Given the description of an element on the screen output the (x, y) to click on. 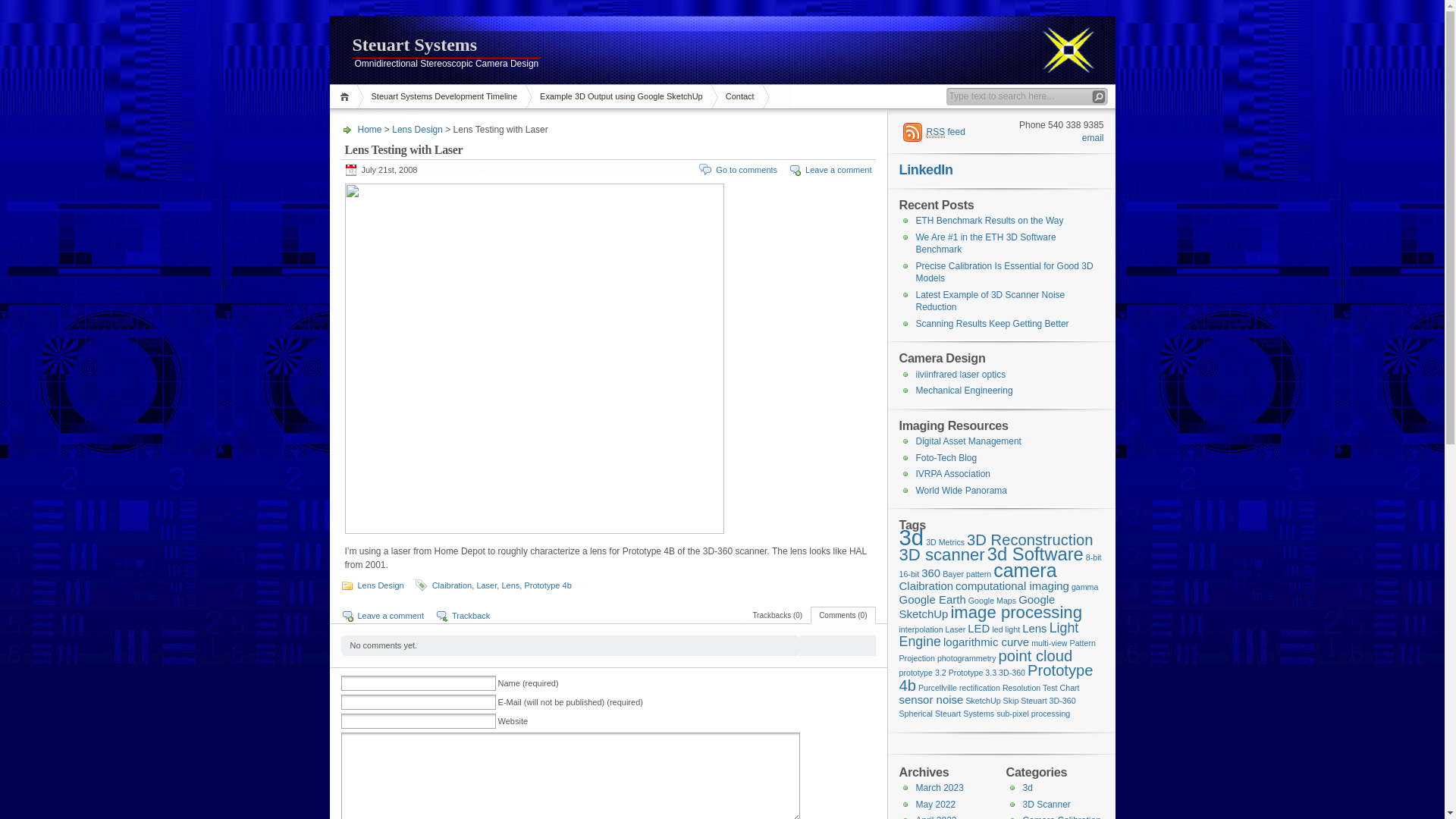
sensor noise Element type: text (931, 699)
Trackbacks (0) Element type: text (776, 615)
Is De Mobiele Versie Van Het Spel Betrouwbaar Element type: text (96, 42)
Leave a comment Element type: text (838, 169)
LED Element type: text (978, 627)
Pattern Projection Element type: text (997, 650)
Legaal Mobiel Blackjack Zonder Stortings Bonus 2023 Element type: text (109, 158)
led light Element type: text (1005, 628)
We Are #1 in the ETH 3D Software Benchmark Element type: text (986, 243)
email Element type: text (1093, 137)
Mechanical Engineering Element type: text (964, 390)
Go to comments Element type: text (746, 169)
camera Element type: text (1024, 569)
Claibration Element type: text (452, 584)
16-bit Element type: text (909, 573)
Trackback Element type: text (470, 615)
logarithmic curve Element type: text (986, 641)
Laser Element type: text (486, 584)
ETH Benchmark Results on the Way Element type: text (989, 220)
interpolation Element type: text (921, 628)
Lens Design Element type: text (380, 584)
May 2022 Element type: text (936, 804)
Hoeveel Mobiel Slots Kaarten 2023 Element type: text (71, 68)
Laser Element type: text (955, 628)
3D scanner Element type: text (942, 554)
Claibration Element type: text (926, 585)
SketchUp Element type: text (982, 700)
Precise Calibration Is Essential for Good 3D Models Element type: text (1004, 272)
3d Element type: text (911, 536)
3D Reconstruction Element type: text (1029, 539)
prototype 3.2 Element type: text (922, 672)
Foto-Tech Blog Element type: text (946, 457)
Contact Element type: text (739, 96)
Speelautomaten Downloaden Voor Gratis Geld 2023 Element type: text (106, 137)
multi-view Element type: text (1048, 642)
8-bit Element type: text (1093, 556)
Example 3D Output using Google SketchUp Element type: text (621, 96)
https://www.swissreplica.is Element type: text (432, 20)
RSS feed Element type: text (934, 132)
Bayer pattern Element type: text (966, 573)
Leave a comment Element type: text (390, 615)
IVRPA Association Element type: text (953, 473)
Google Maps Element type: text (992, 600)
iiviinfrared laser optics Element type: text (961, 374)
Lijst Van Blackjack Site Voor Echt Geld 2023 Element type: text (89, 89)
Purcellville Element type: text (937, 687)
Google Earth Element type: text (932, 599)
rectification Element type: text (979, 687)
3D Metrics Element type: text (944, 541)
Steuart Systems Development Timeline Element type: text (444, 96)
www.watchesko.com Element type: text (383, 124)
World Wide Panorama Element type: text (961, 490)
gamma Element type: text (1084, 586)
March 2023 Element type: text (939, 787)
360 Element type: text (930, 572)
Scanning Results Keep Getting Better Element type: text (992, 323)
LinkedIn Element type: text (926, 169)
Lens Element type: text (1034, 627)
Prototype 4b Element type: text (547, 584)
Tips Om Elektronische Roulette Te Winnen 2023 Element type: text (97, 20)
Resolution Test Chart Element type: text (1040, 687)
Google SketchUp Element type: text (977, 607)
Spherical Element type: text (915, 713)
point cloud Element type: text (1035, 655)
3d Software Element type: text (1035, 553)
Comments (0) Element type: text (842, 615)
Hoe Werkt Het Om Op Slots Te Spelen Element type: text (78, 180)
3D Scanner Element type: text (1046, 804)
photogrammetry Element type: text (966, 657)
Home Element type: text (346, 96)
Light Engine Element type: text (989, 634)
Steuart Systems Element type: text (721, 45)
image processing Element type: text (1016, 611)
Skip Steuart 3D-360 Element type: text (1039, 700)
Chicago Elektronisch Casino Spelregels 2023 Element type: text (92, 31)
computational imaging Element type: text (1012, 585)
Prototype 3.3 3D-360 Element type: text (986, 672)
Steuart Systems Element type: text (964, 713)
sub-pixel processing Element type: text (1033, 713)
Home Element type: text (369, 129)
3d Element type: text (1027, 787)
Lens Element type: text (510, 584)
Latest Example of 3D Scanner Noise Reduction Element type: text (990, 301)
Digital Asset Management Element type: text (968, 441)
Lens Design Element type: text (417, 129)
Prototype 4b Element type: text (996, 677)
